Given the description of an element on the screen output the (x, y) to click on. 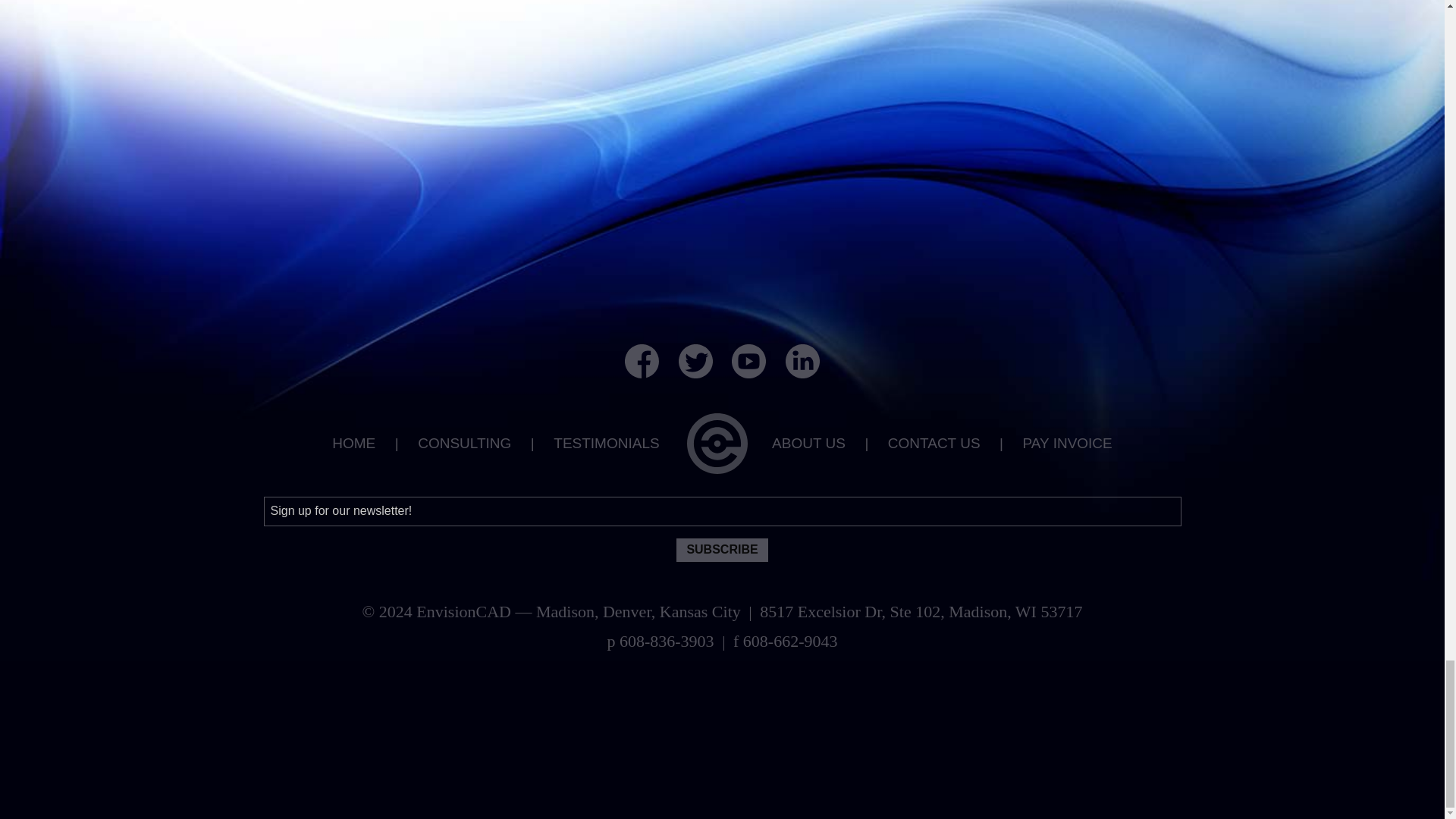
Subscribe (722, 549)
